Given the description of an element on the screen output the (x, y) to click on. 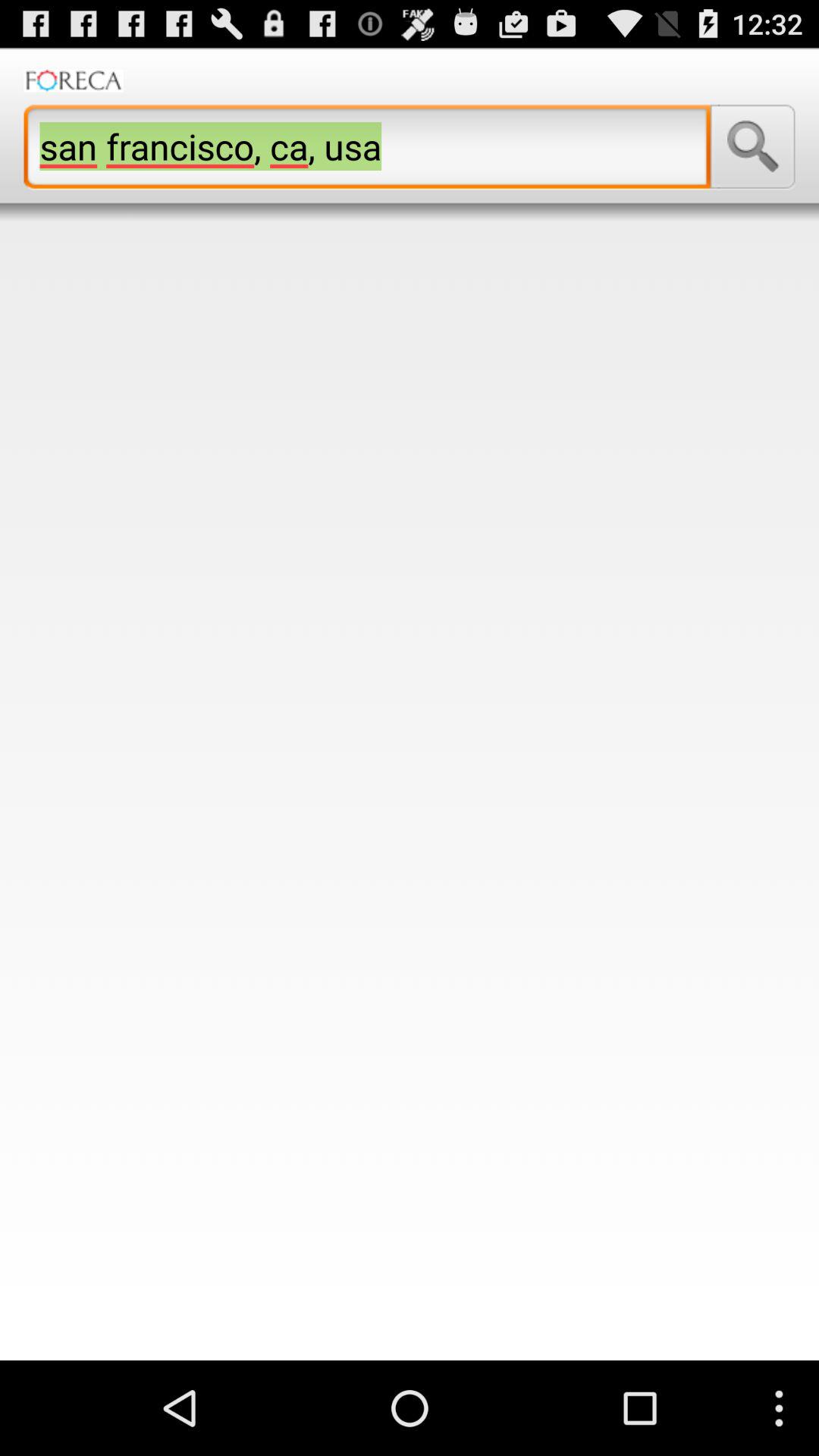
select the icon to the right of the san francisco ca item (752, 146)
